Given the description of an element on the screen output the (x, y) to click on. 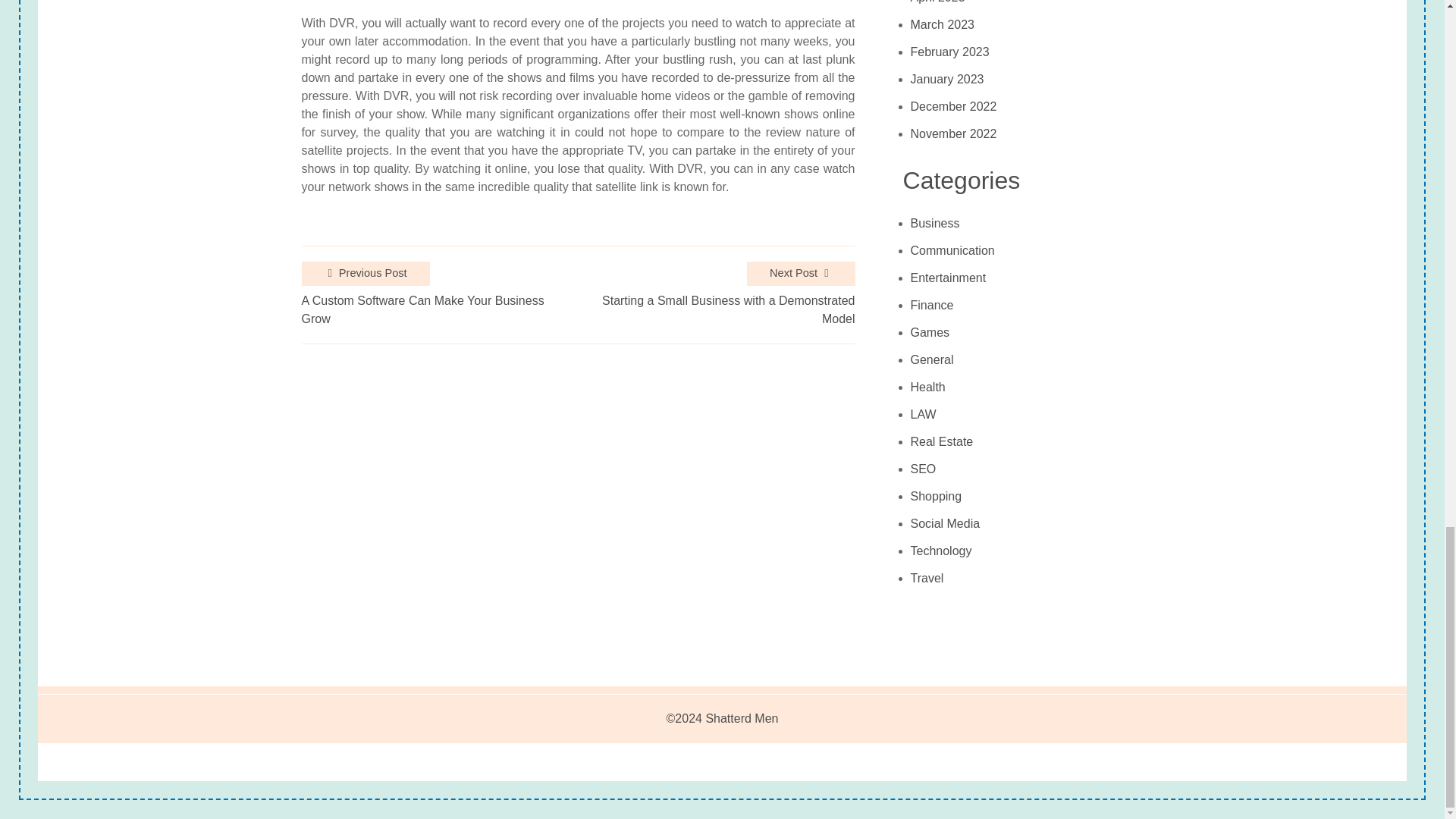
Business (935, 223)
Health (927, 387)
Next Post (800, 273)
General (932, 359)
A Custom Software Can Make Your Business Grow (436, 309)
December 2022 (954, 106)
Starting a Small Business with a Demonstrated Model (712, 309)
Communication (952, 250)
January 2023 (947, 79)
Entertainment (949, 277)
Previous Post (365, 273)
April 2023 (938, 5)
February 2023 (950, 52)
March 2023 (943, 24)
Games (930, 332)
